Given the description of an element on the screen output the (x, y) to click on. 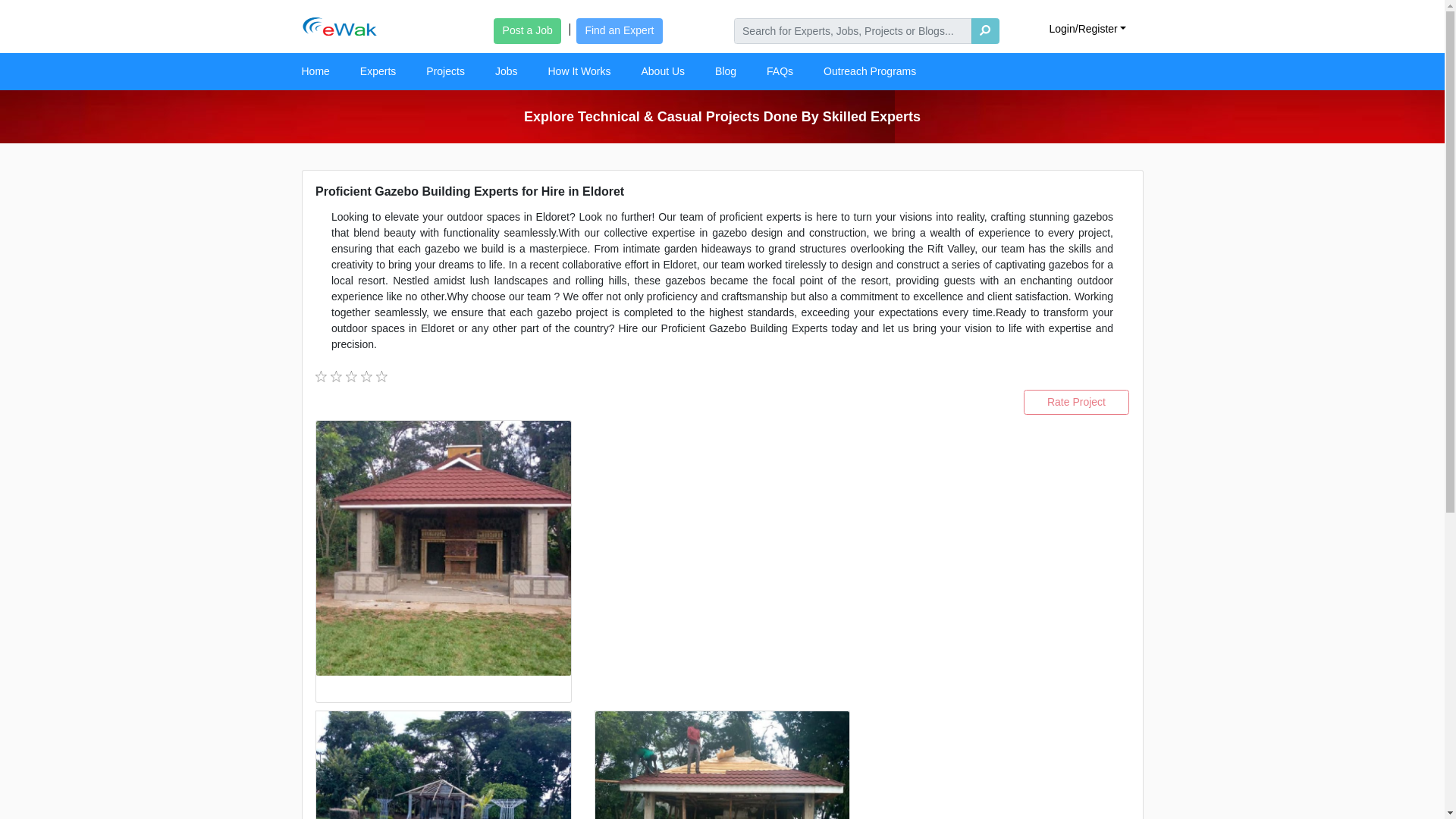
Rate Project (1076, 402)
Blog (725, 71)
Post a Job (526, 31)
Jobs (506, 71)
How It Works (579, 71)
About Us (663, 71)
Projects (445, 71)
Find an Expert (619, 29)
